Given the description of an element on the screen output the (x, y) to click on. 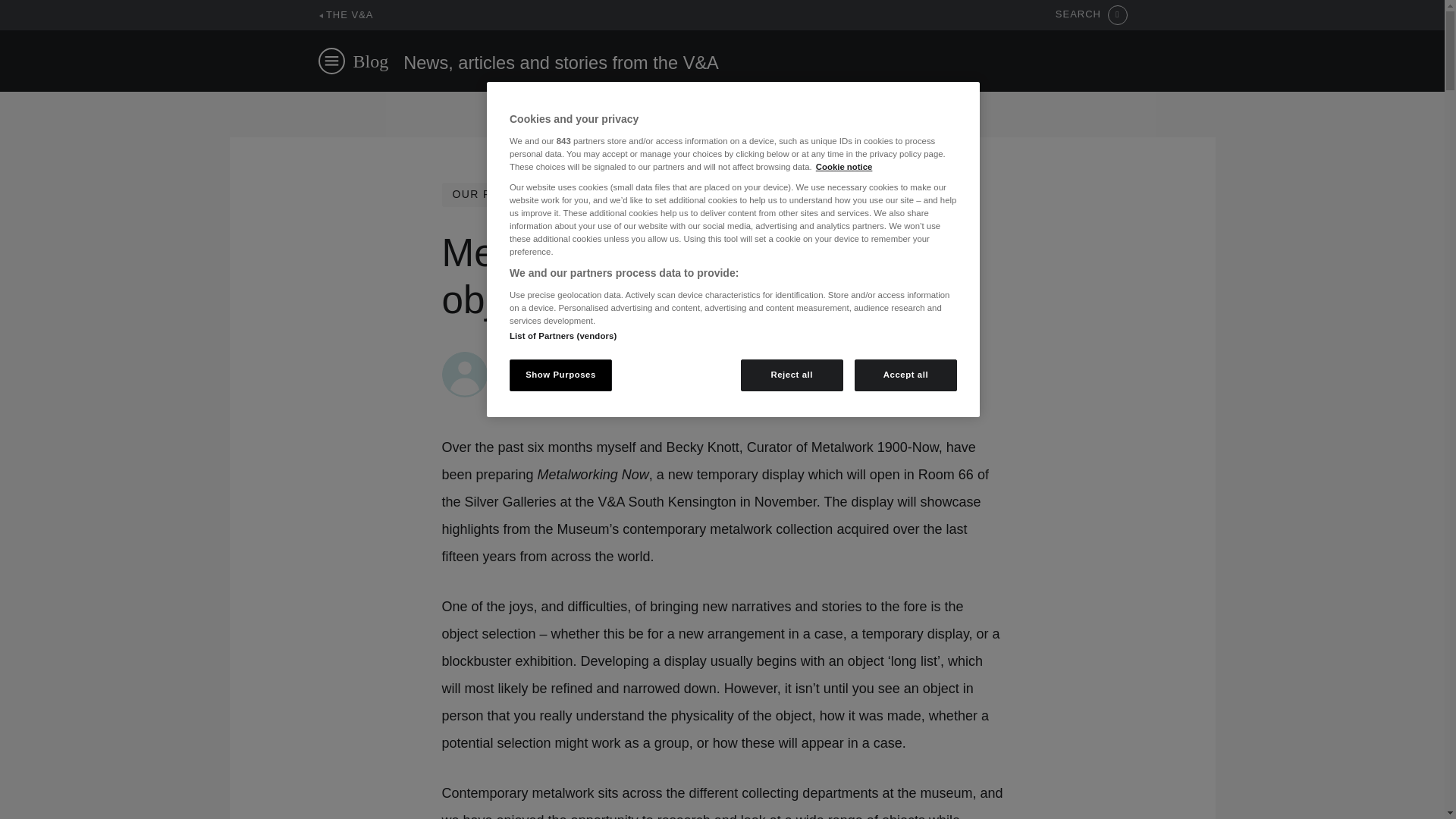
SEARCH (1090, 15)
Clementine Loustric (550, 359)
Posts by Clementine Loustric (550, 359)
Blog (370, 60)
OUR PROJECTS (499, 194)
